Given the description of an element on the screen output the (x, y) to click on. 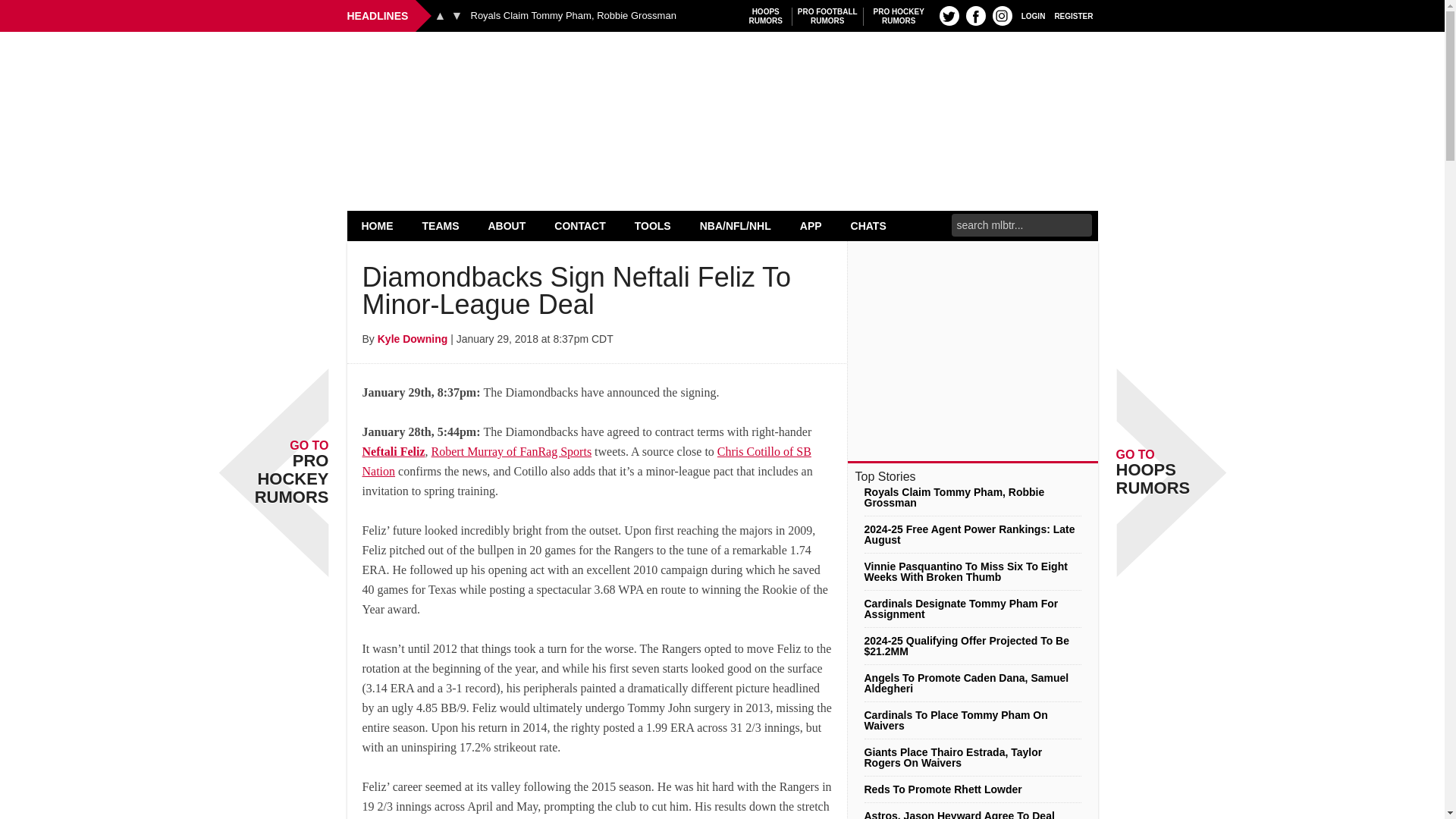
Next (456, 15)
Royals Claim Tommy Pham, Robbie Grossman (572, 15)
LOGIN (827, 16)
HOME (1032, 15)
Previous (377, 225)
TEAMS (439, 15)
Instagram profile (440, 225)
Twitter profile (765, 16)
